Given the description of an element on the screen output the (x, y) to click on. 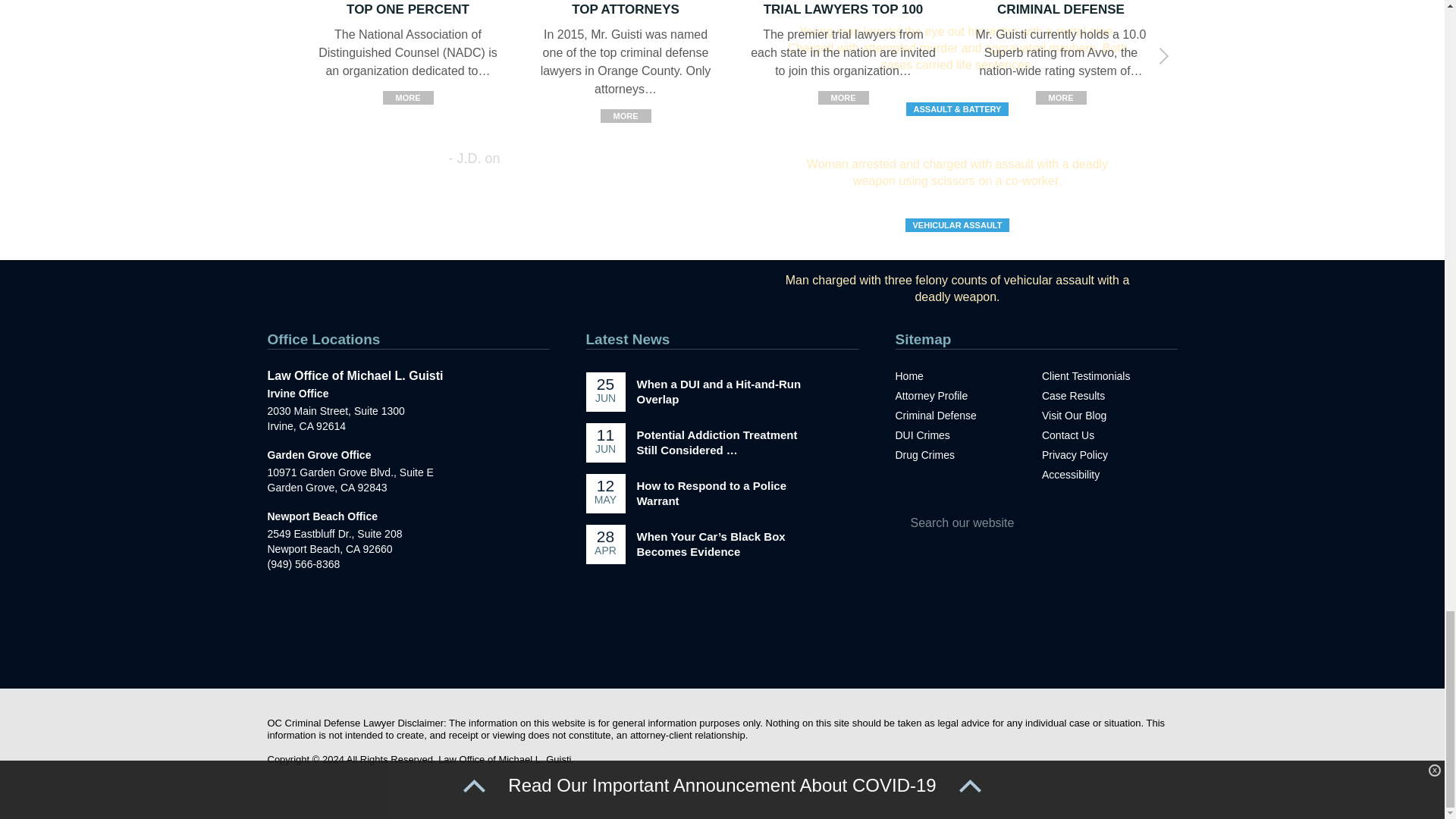
When a DUI and a Hit-and-Run Overlap (719, 391)
Follow us on Facebook (676, 643)
Search our website (1005, 522)
Follow us on Twitter (707, 643)
How to Respond to a Police Warrant (712, 492)
Follow us on LinkedIn (768, 643)
Search our website (1005, 522)
Watch our YouTube Videos (737, 643)
